Given the description of an element on the screen output the (x, y) to click on. 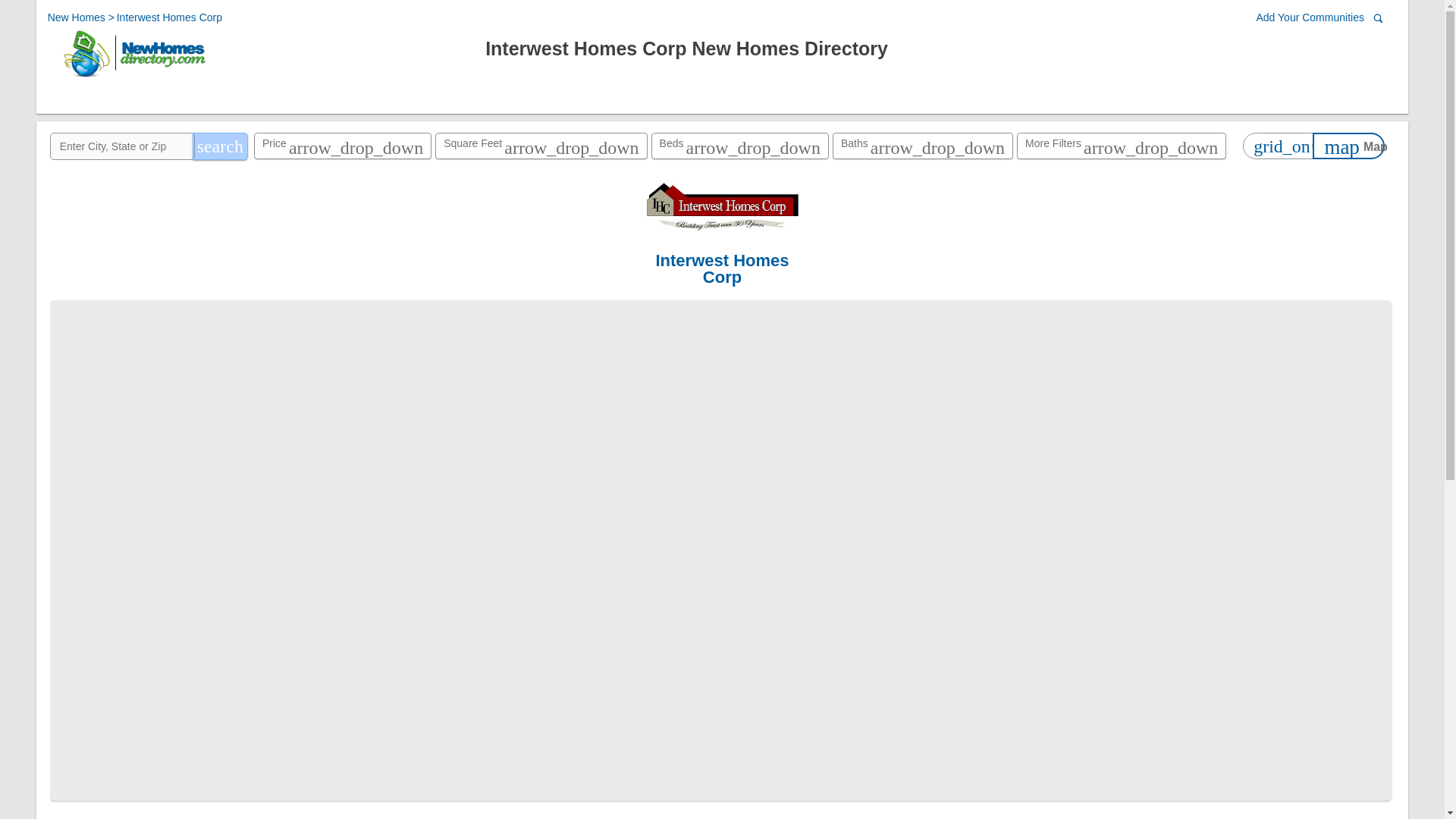
Interwest Homes Corp (169, 17)
search (219, 145)
New Homes Directory Home Page (133, 76)
Add Your Communities (1313, 18)
New Homes (77, 17)
